Given the description of an element on the screen output the (x, y) to click on. 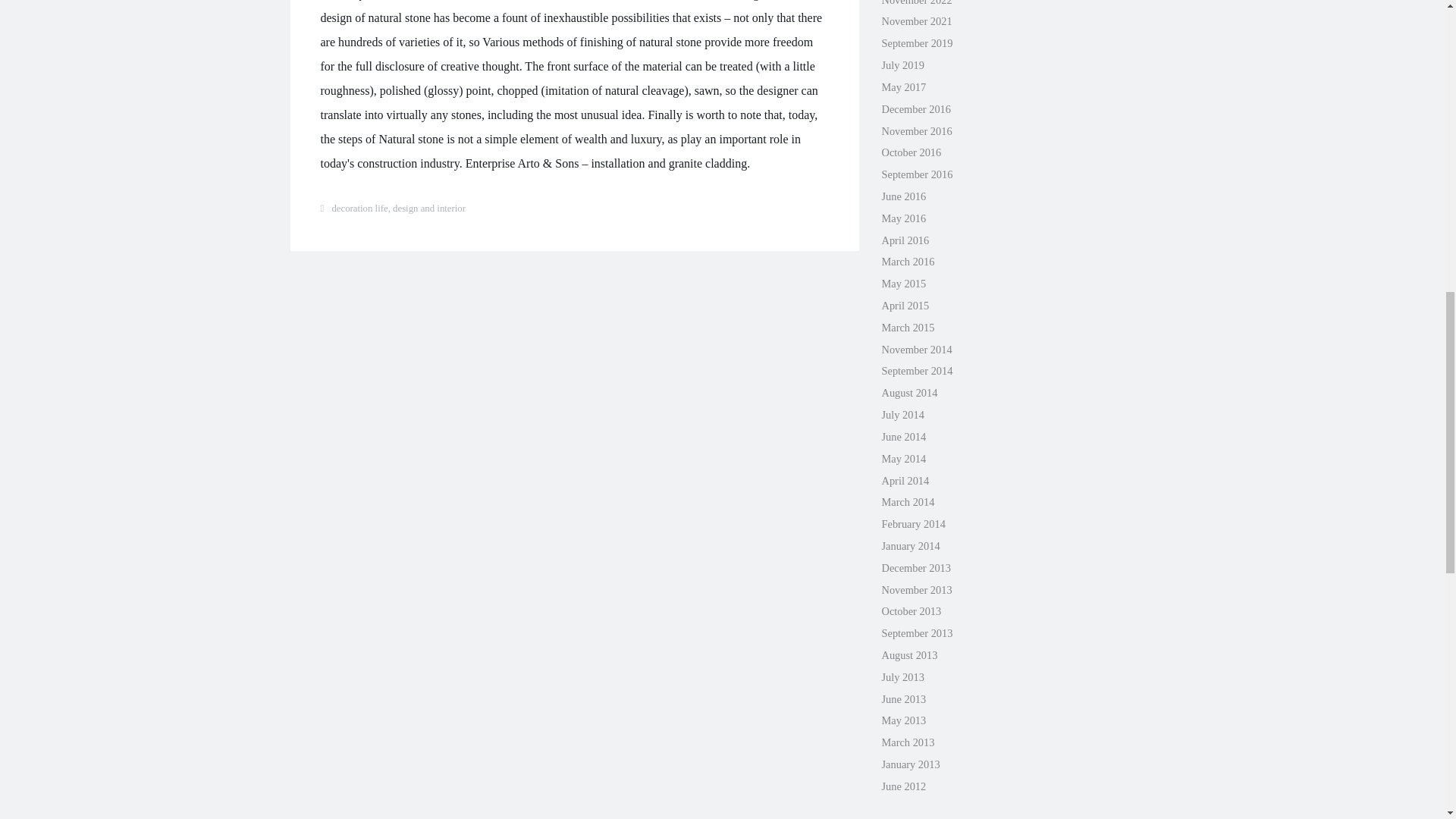
September 2019 (916, 42)
May 2015 (903, 283)
decoration life (359, 208)
May 2016 (903, 218)
September 2016 (916, 174)
March 2015 (907, 327)
November 2014 (916, 349)
June 2016 (903, 196)
July 2019 (901, 64)
design and interior (429, 208)
October 2016 (910, 152)
November 2016 (916, 131)
March 2016 (907, 261)
November 2021 (916, 21)
April 2016 (904, 240)
